Given the description of an element on the screen output the (x, y) to click on. 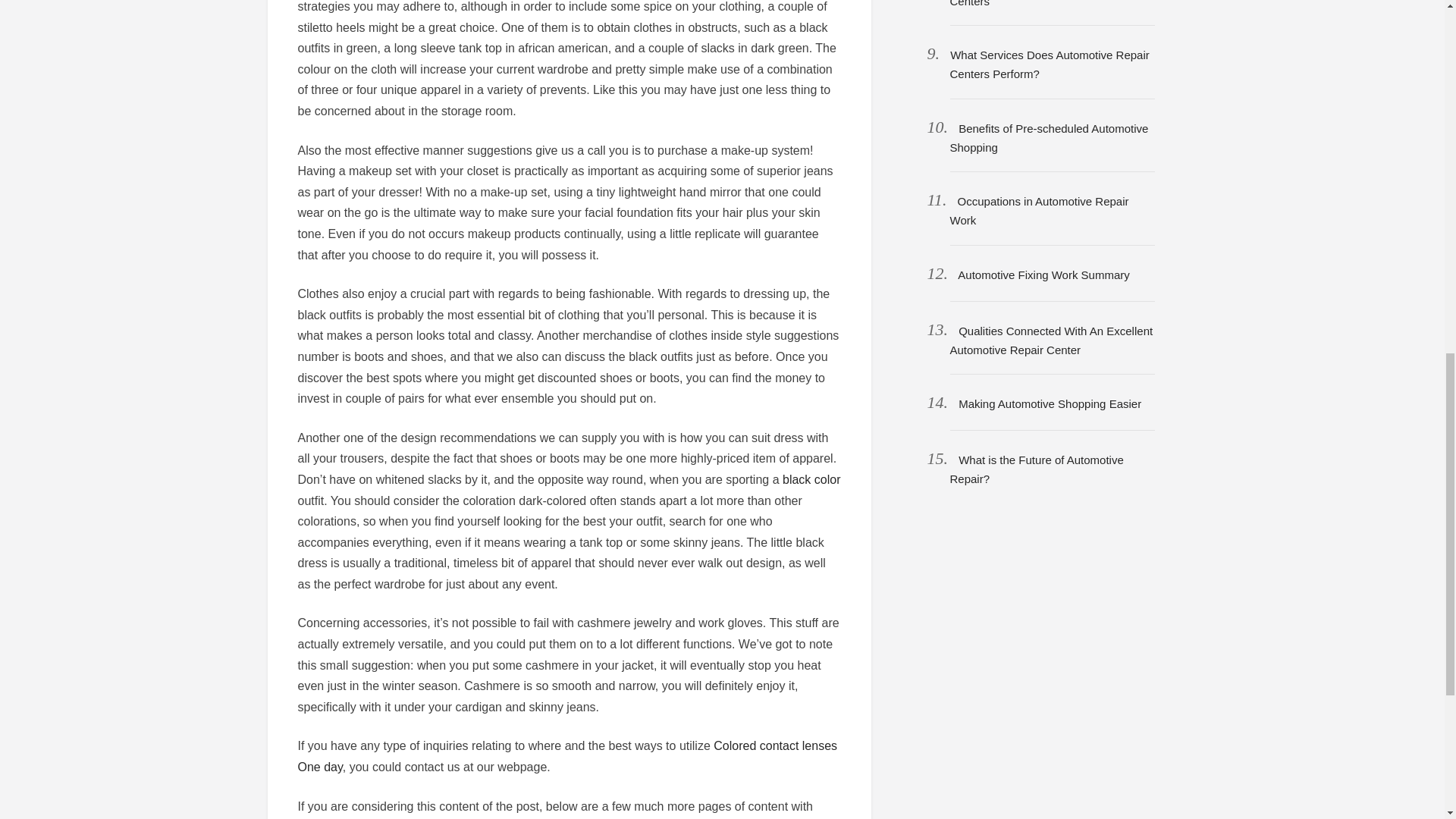
How Much You Need From Auto Repair Centers (1048, 3)
Making Automotive Shopping Easier (1049, 403)
Automotive Fixing Work Summary (1043, 274)
Occupations in Automotive Repair Work (1038, 210)
Benefits of Pre-scheduled Automotive Shopping (1048, 137)
black color (811, 479)
Colored contact lenses One day (567, 756)
What Services Does Automotive Repair Centers Perform? (1048, 64)
What is the Future of Automotive Repair? (1035, 469)
